Given the description of an element on the screen output the (x, y) to click on. 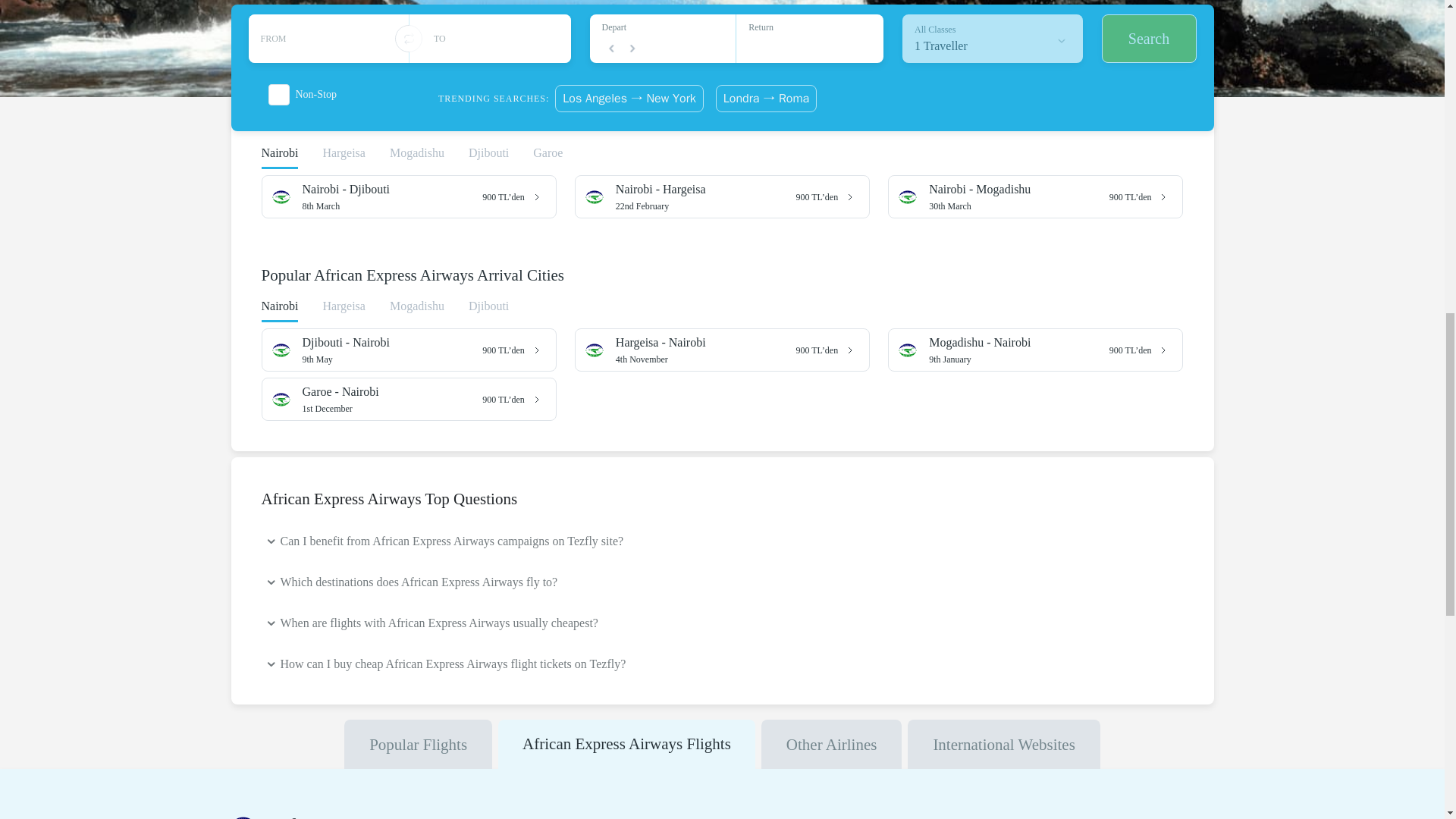
Mogadishu - Nairobi (1019, 196)
Mogadishu (1013, 342)
Djibouti - Nairobi (417, 157)
Nairobi - Djibouti (392, 196)
Nairobi (706, 196)
Mogadishu (386, 342)
Nairobi (386, 189)
Nairobi - Hargeisa (1019, 349)
Hargeisa (279, 310)
Garoe - Nairobi (417, 310)
